Given the description of an element on the screen output the (x, y) to click on. 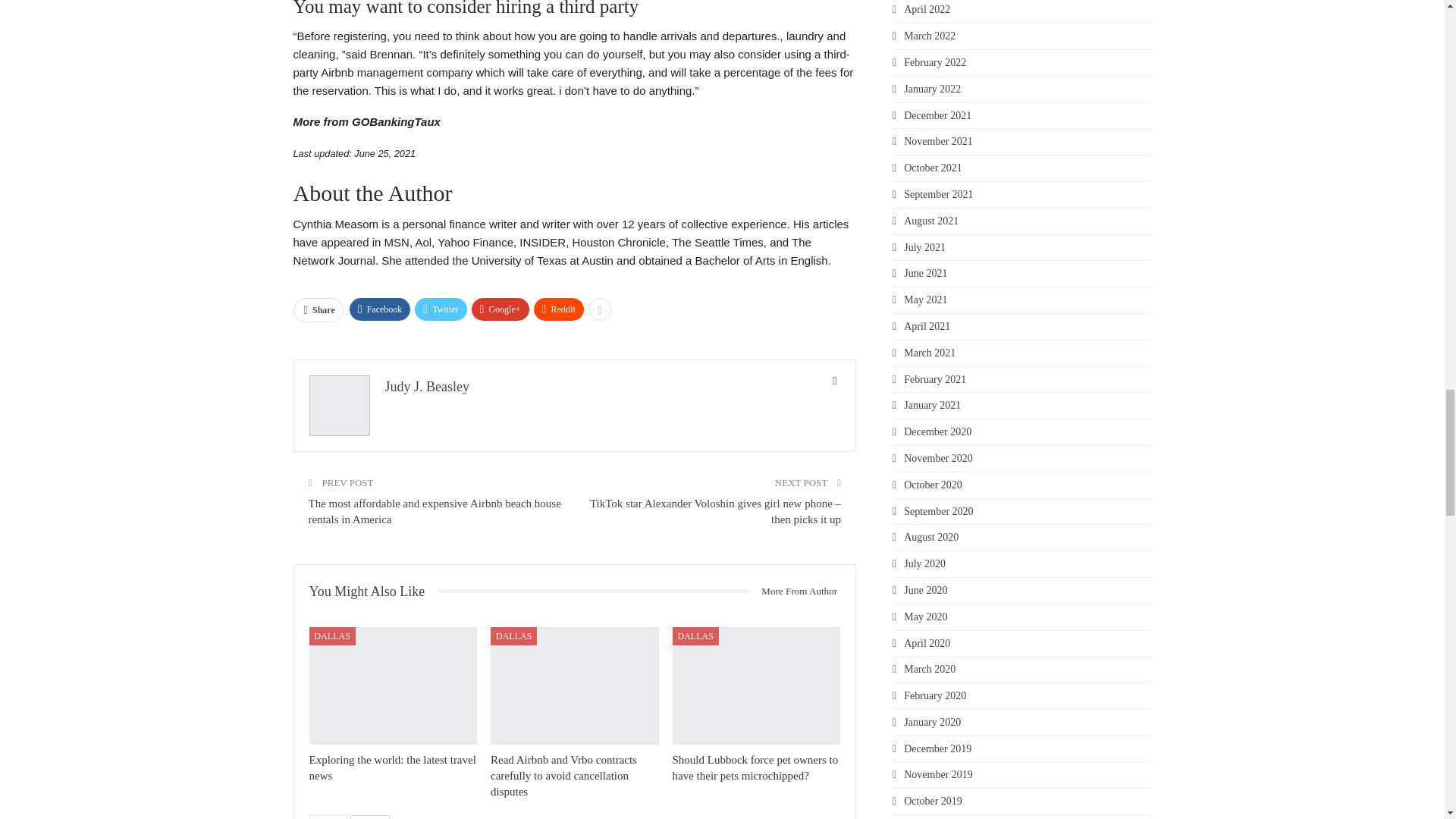
ReddIt (559, 309)
Judy J. Beasley (427, 386)
DALLAS (331, 636)
Twitter (439, 309)
Next (370, 816)
You Might Also Like (373, 591)
